Given the description of an element on the screen output the (x, y) to click on. 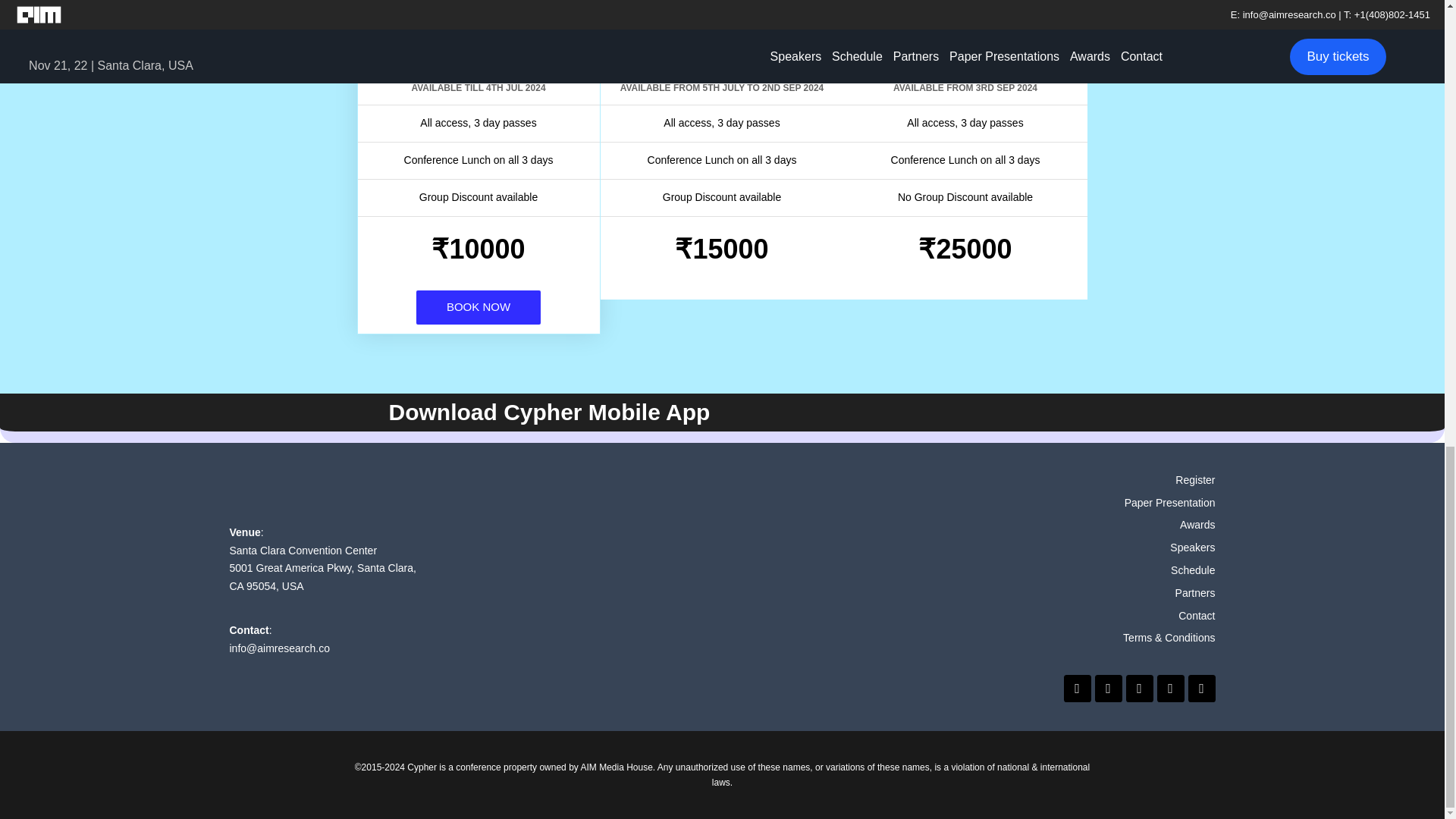
BOOK NOW (478, 307)
Register (1115, 480)
